Given the description of an element on the screen output the (x, y) to click on. 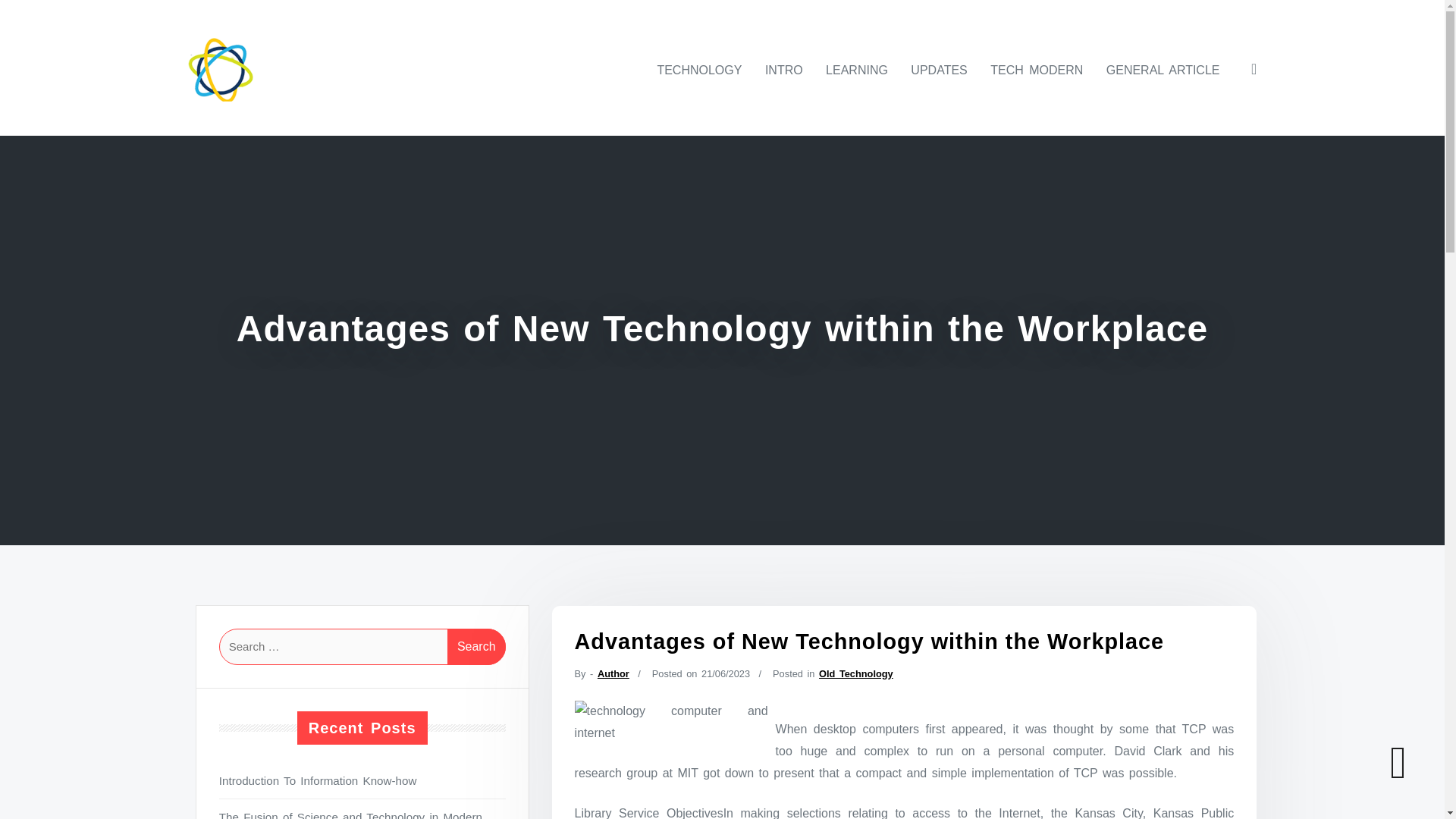
TECHNOLOGY (699, 69)
The Fusion of Science and Technology in Modern Pharmacy (362, 812)
INTRO (783, 69)
TECH MODERN (1036, 69)
Introduction To Information Know-how (362, 780)
Search (475, 646)
GENERAL ARTICLE (1162, 69)
LEARNING (856, 69)
UPDATES (938, 69)
Search (475, 646)
